Given the description of an element on the screen output the (x, y) to click on. 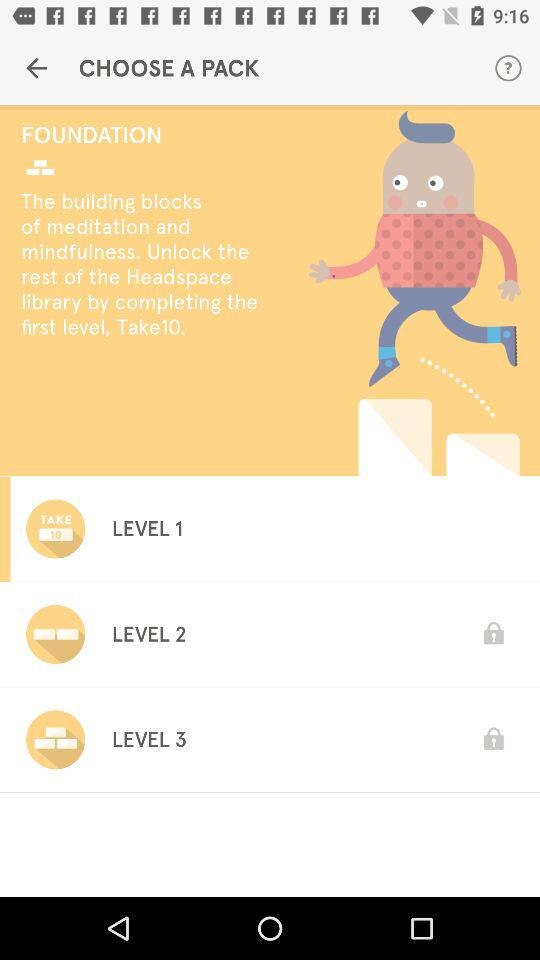
jump to level 2 item (148, 634)
